Given the description of an element on the screen output the (x, y) to click on. 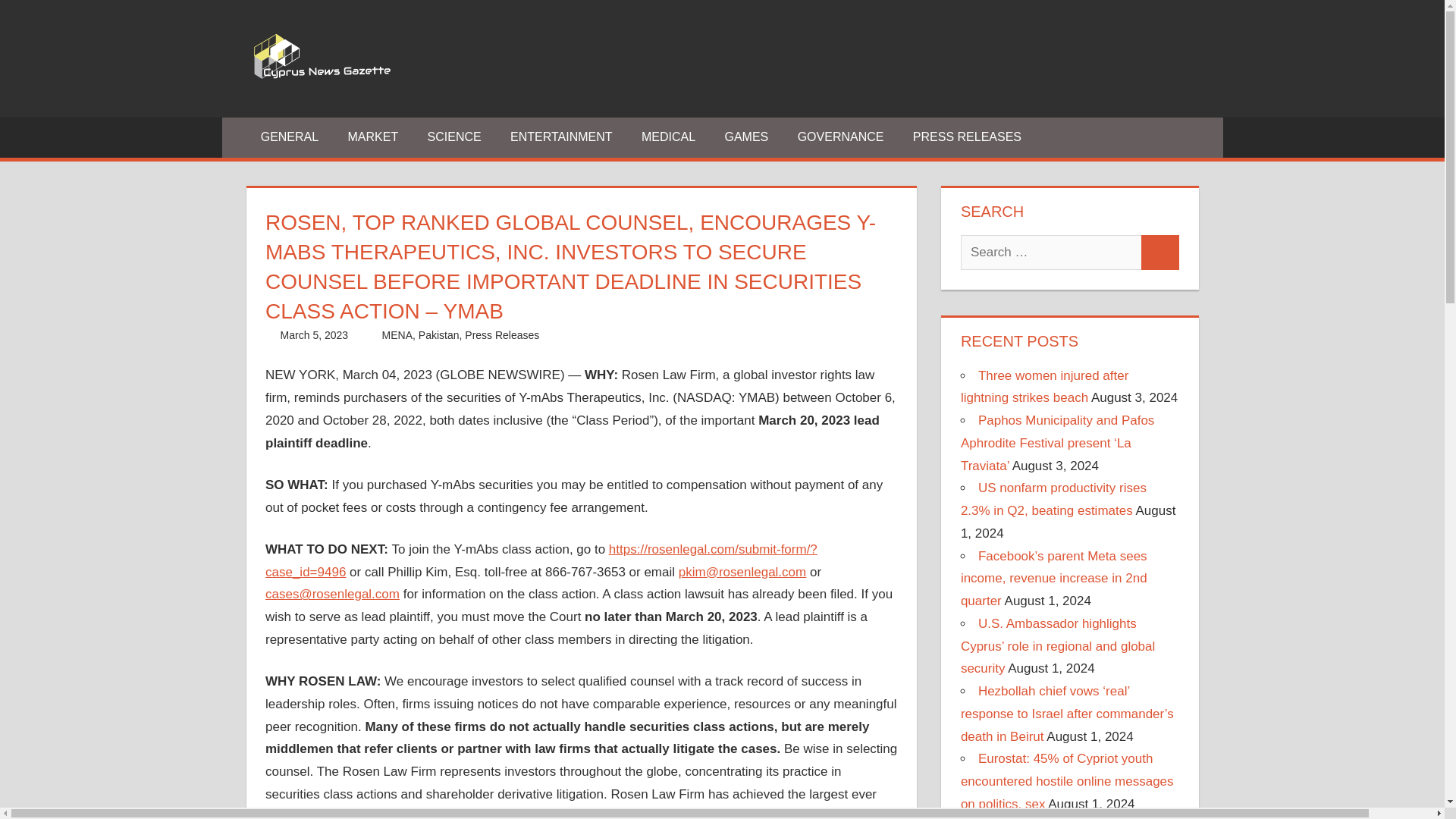
ENTERTAINMENT (561, 137)
View all posts by cnadmin (398, 335)
Search for: (1050, 252)
MENA (396, 335)
Pakistan (439, 335)
GENERAL (289, 137)
March 5, 2023 (315, 335)
4:15 am (315, 335)
MEDICAL (668, 137)
GAMES (746, 137)
Three women injured after lightning strikes beach (1044, 386)
SCIENCE (454, 137)
GOVERNANCE (840, 137)
Search (1160, 252)
cnadmin (398, 335)
